Given the description of an element on the screen output the (x, y) to click on. 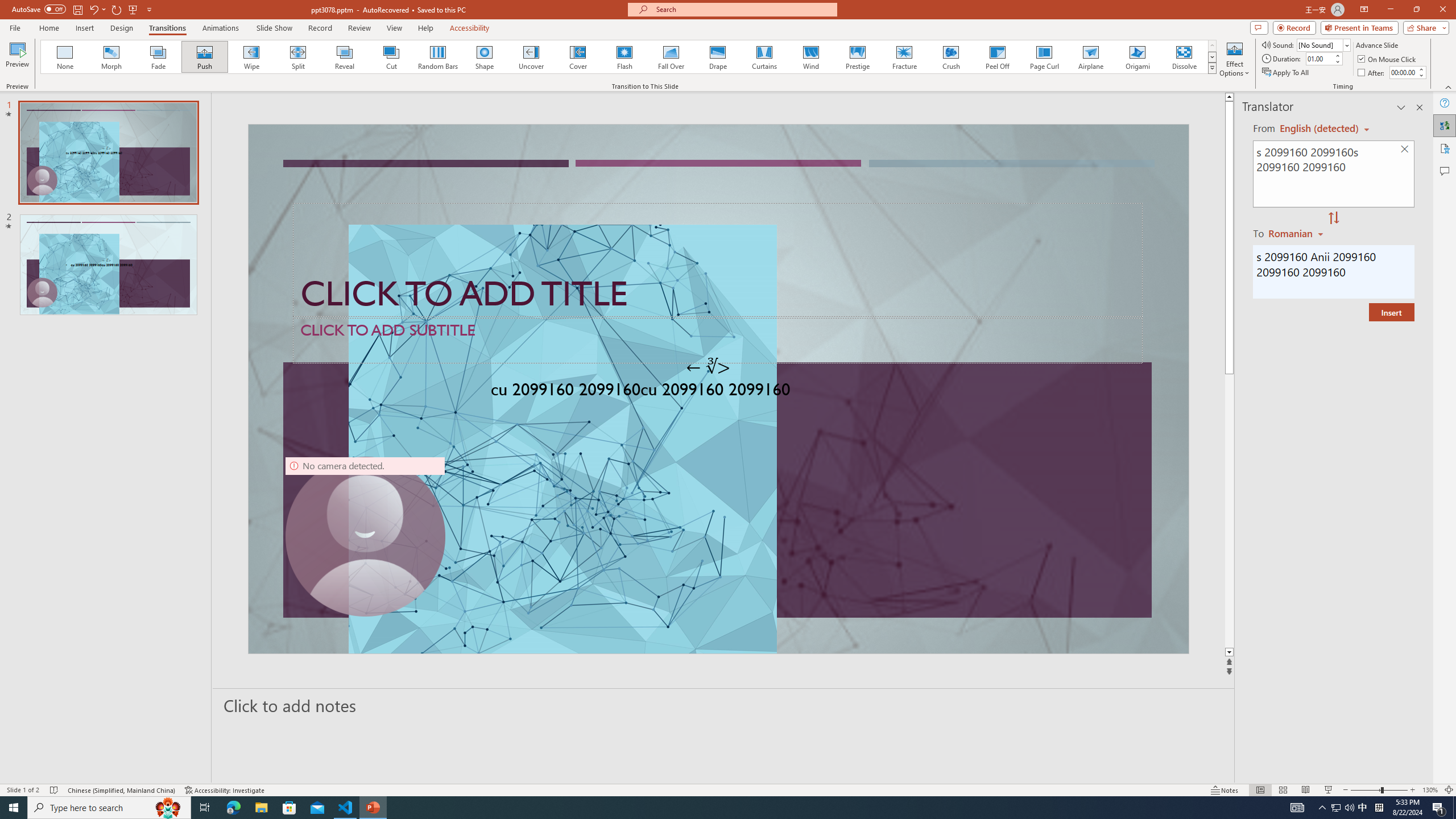
Romanian (1296, 232)
Clear text (1404, 149)
Fall Over (670, 56)
Crush (950, 56)
Fade (158, 56)
Duration (1319, 58)
